Given the description of an element on the screen output the (x, y) to click on. 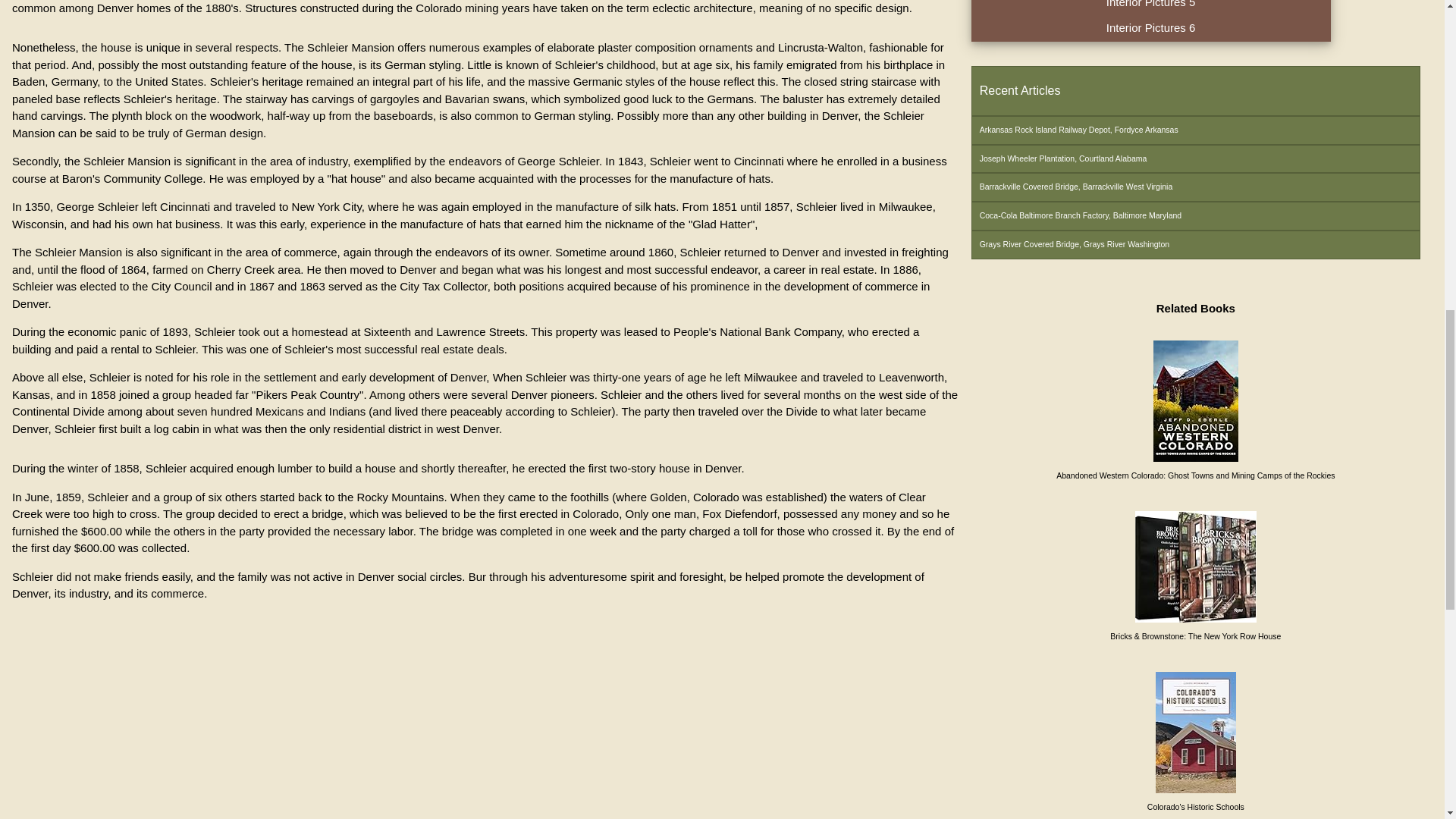
Grays River Covered Bridge, Grays River Washington (1196, 244)
Arkansas Rock Island Railway Depot, Fordyce Arkansas (1196, 130)
Joseph Wheeler Plantation, Courtland Alabama (1196, 158)
Barrackville Covered Bridge, Barrackville West Virginia (1196, 186)
Coca-Cola Baltimore Branch Factory, Baltimore Maryland (1196, 215)
